Given the description of an element on the screen output the (x, y) to click on. 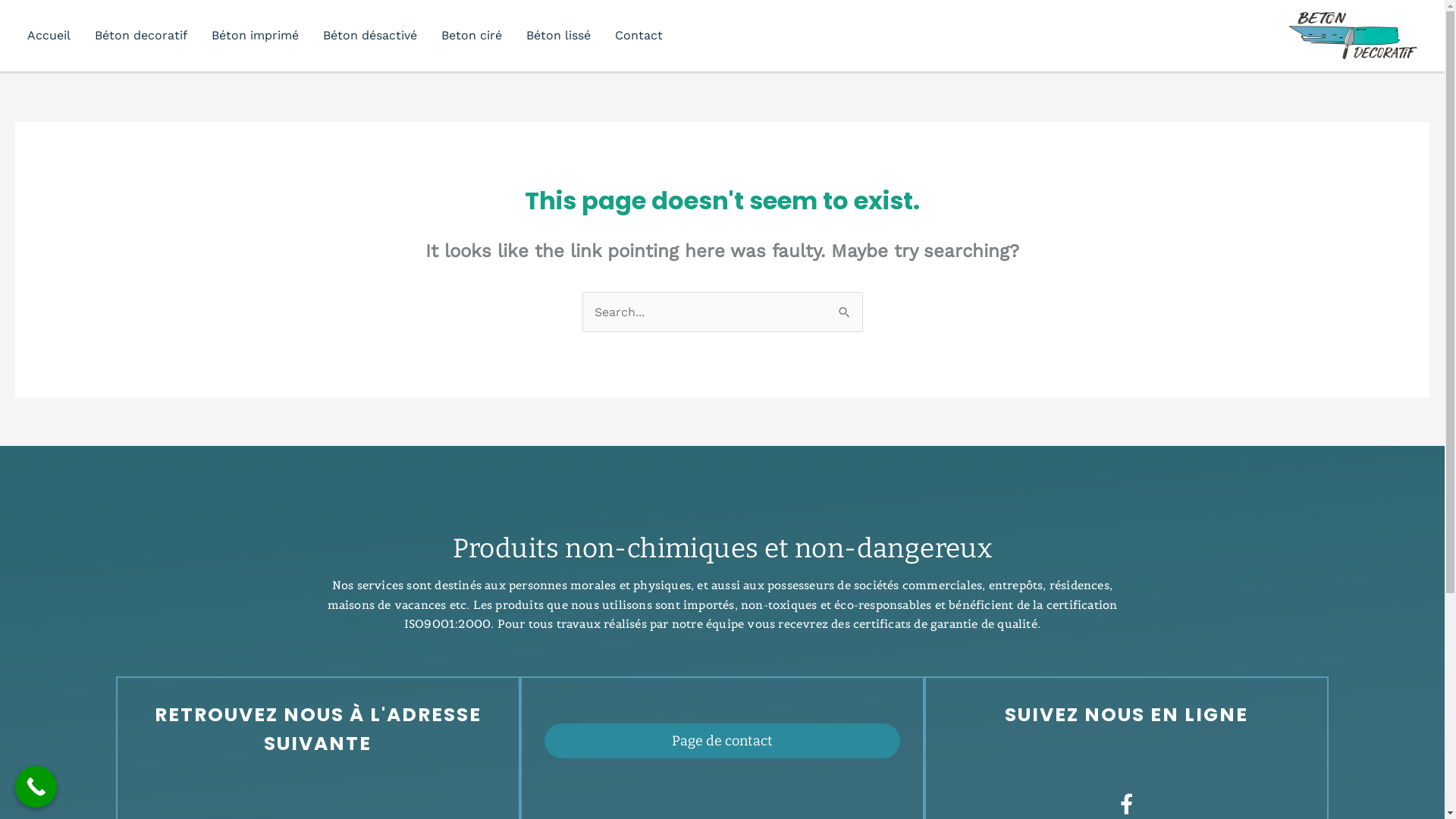
Search Element type: text (845, 312)
Facebook-f Element type: text (1126, 803)
Page de contact Element type: text (722, 740)
Accueil Element type: text (48, 35)
Contact Element type: text (638, 35)
